Given the description of an element on the screen output the (x, y) to click on. 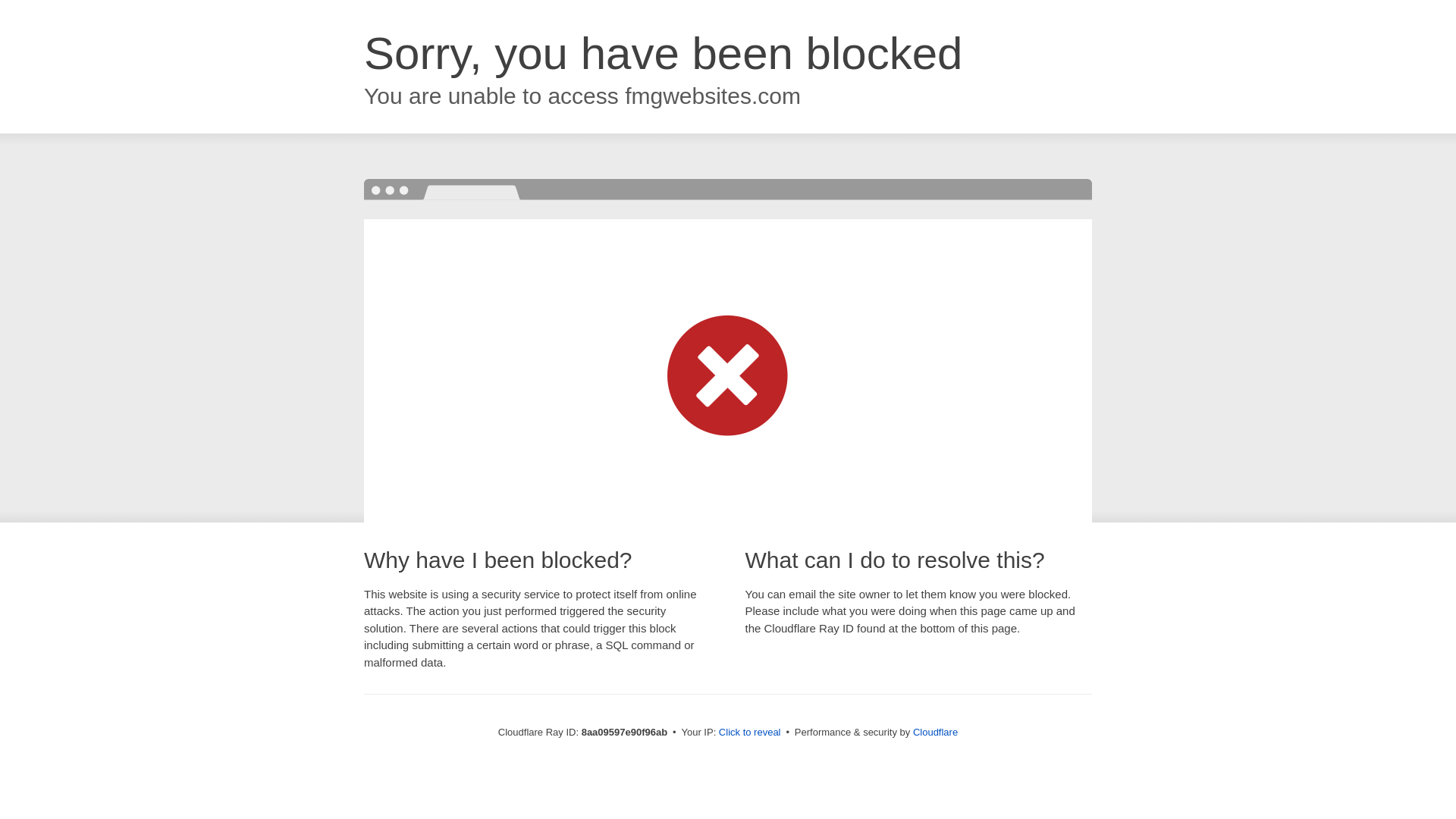
Cloudflare (935, 731)
Click to reveal (749, 732)
